Given the description of an element on the screen output the (x, y) to click on. 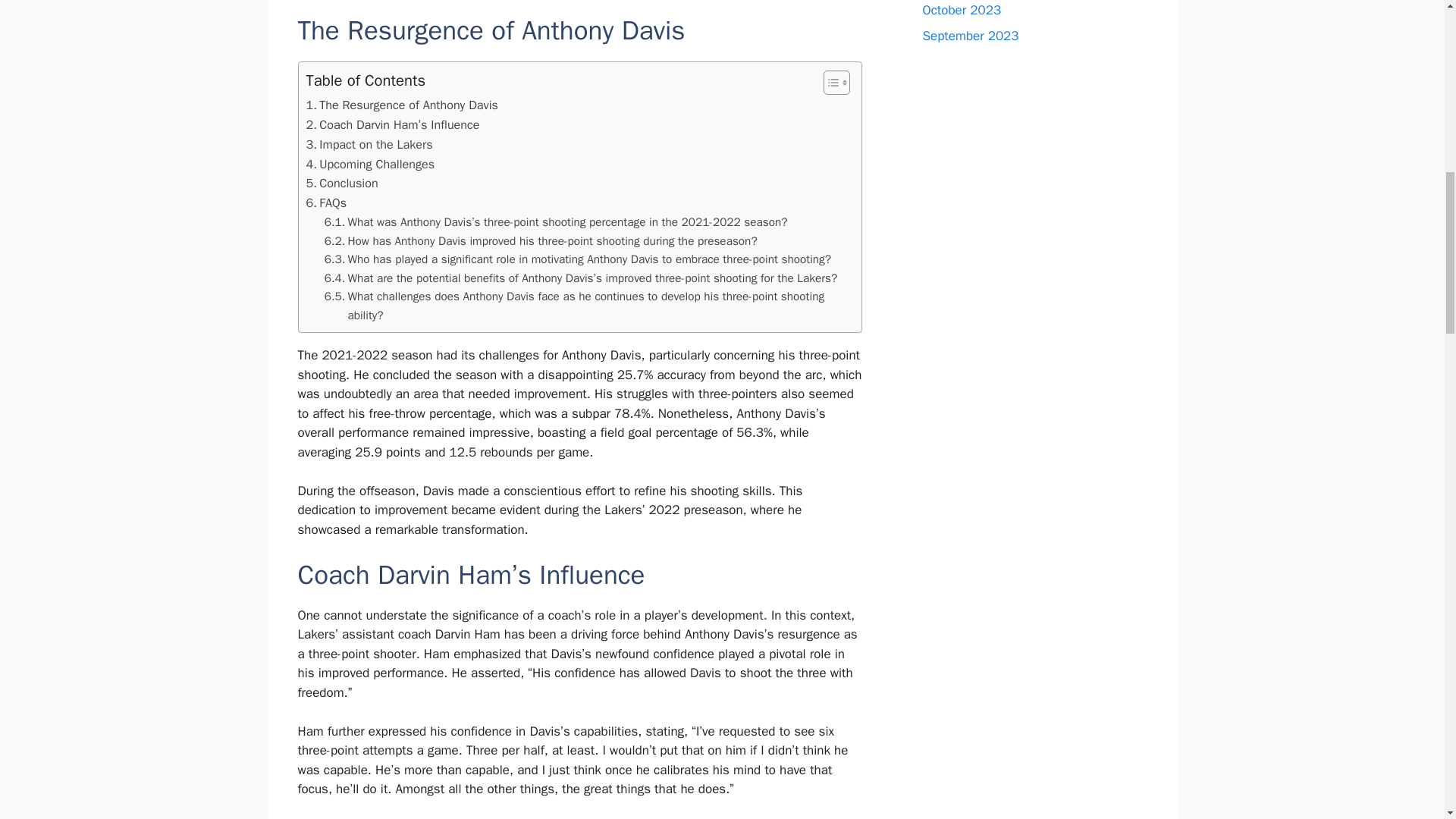
Conclusion (341, 183)
Conclusion (341, 183)
Upcoming Challenges (370, 164)
The Resurgence of Anthony Davis (401, 105)
FAQs (326, 202)
